Given the description of an element on the screen output the (x, y) to click on. 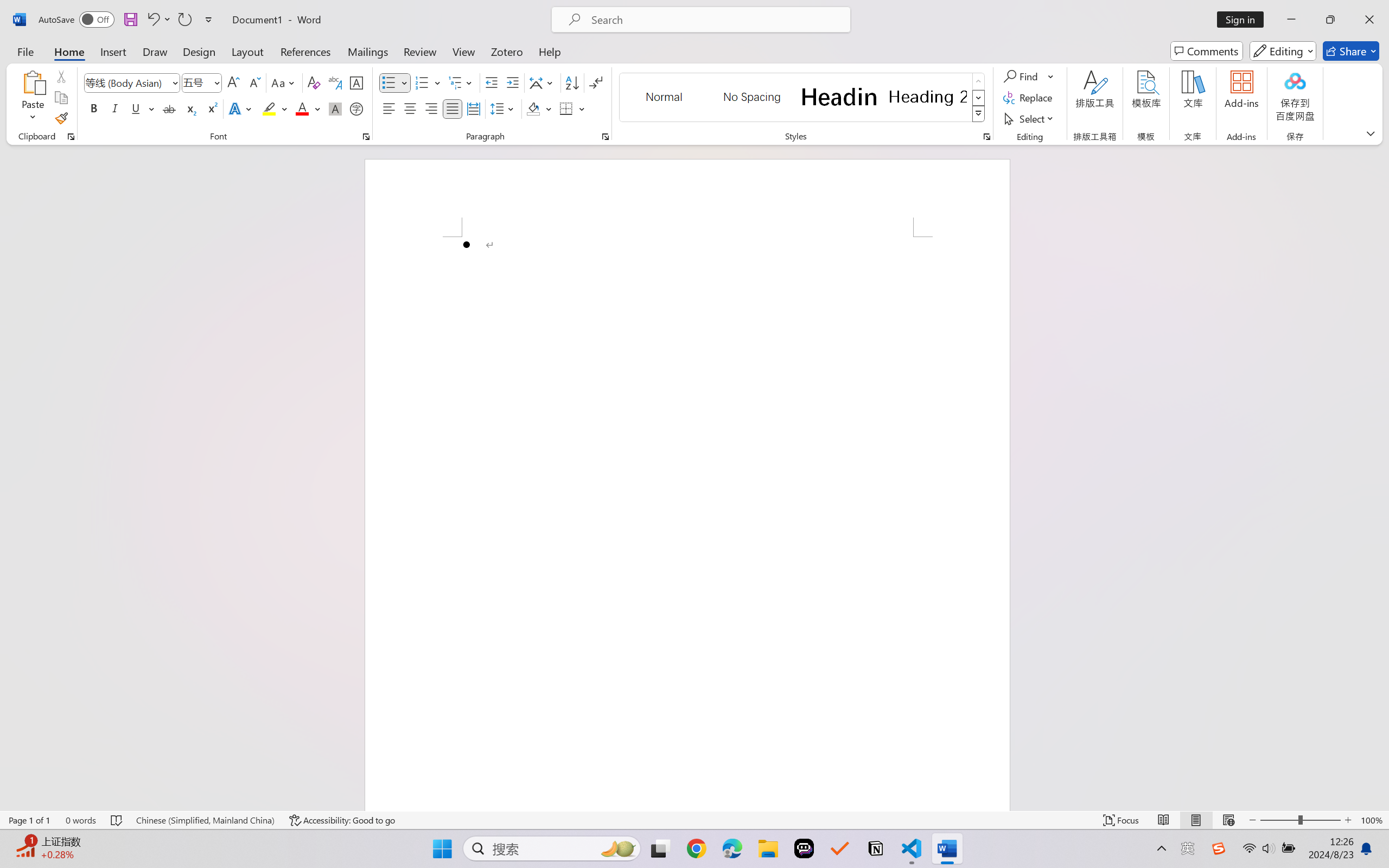
Undo Bullet Default (158, 19)
